Given the description of an element on the screen output the (x, y) to click on. 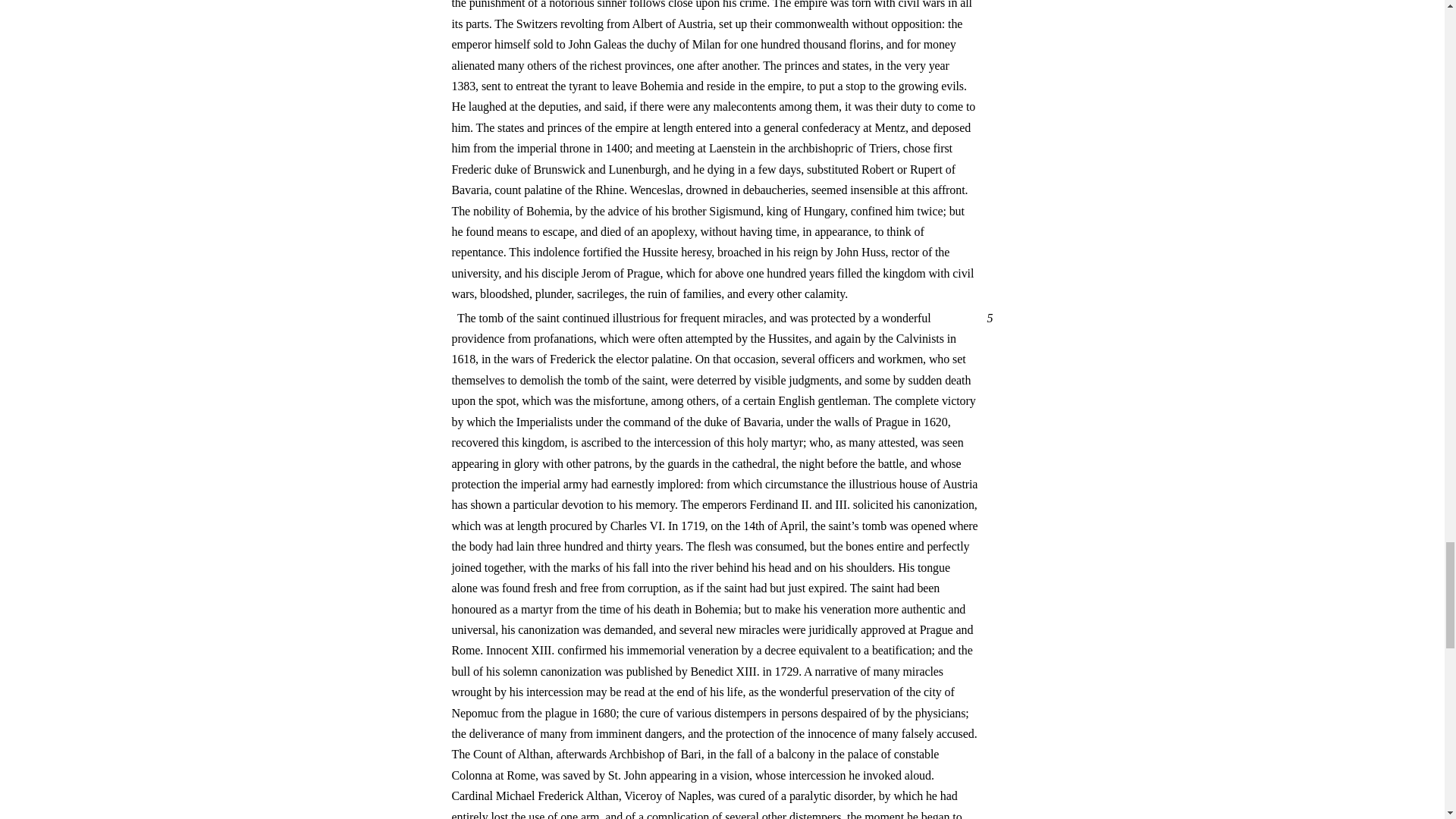
  5 (986, 318)
